Given the description of an element on the screen output the (x, y) to click on. 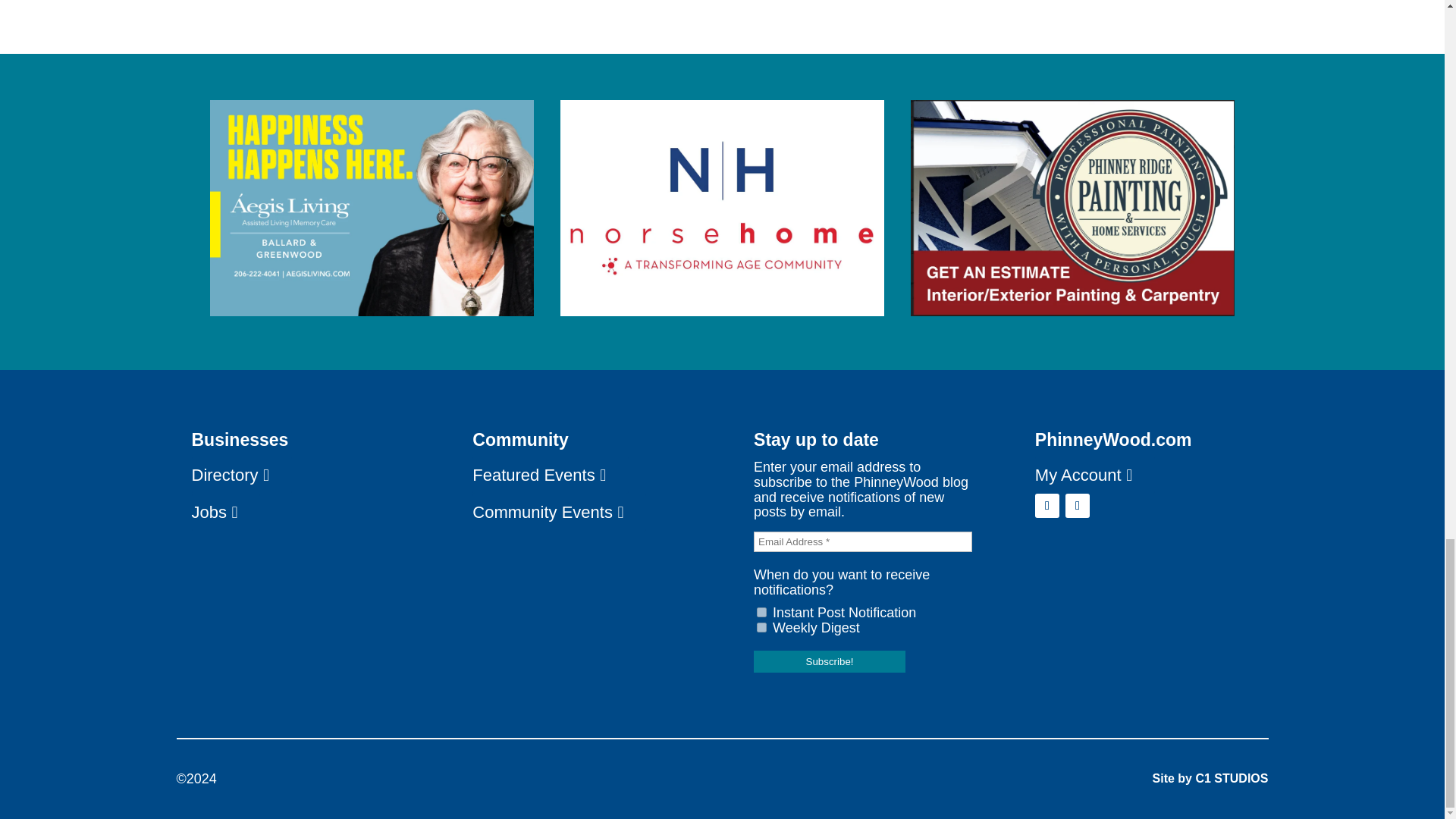
Subscribe! (829, 661)
3 (762, 627)
Follow on X (1077, 505)
Email Address (863, 541)
4 (762, 612)
Follow on Facebook (1047, 505)
